Given the description of an element on the screen output the (x, y) to click on. 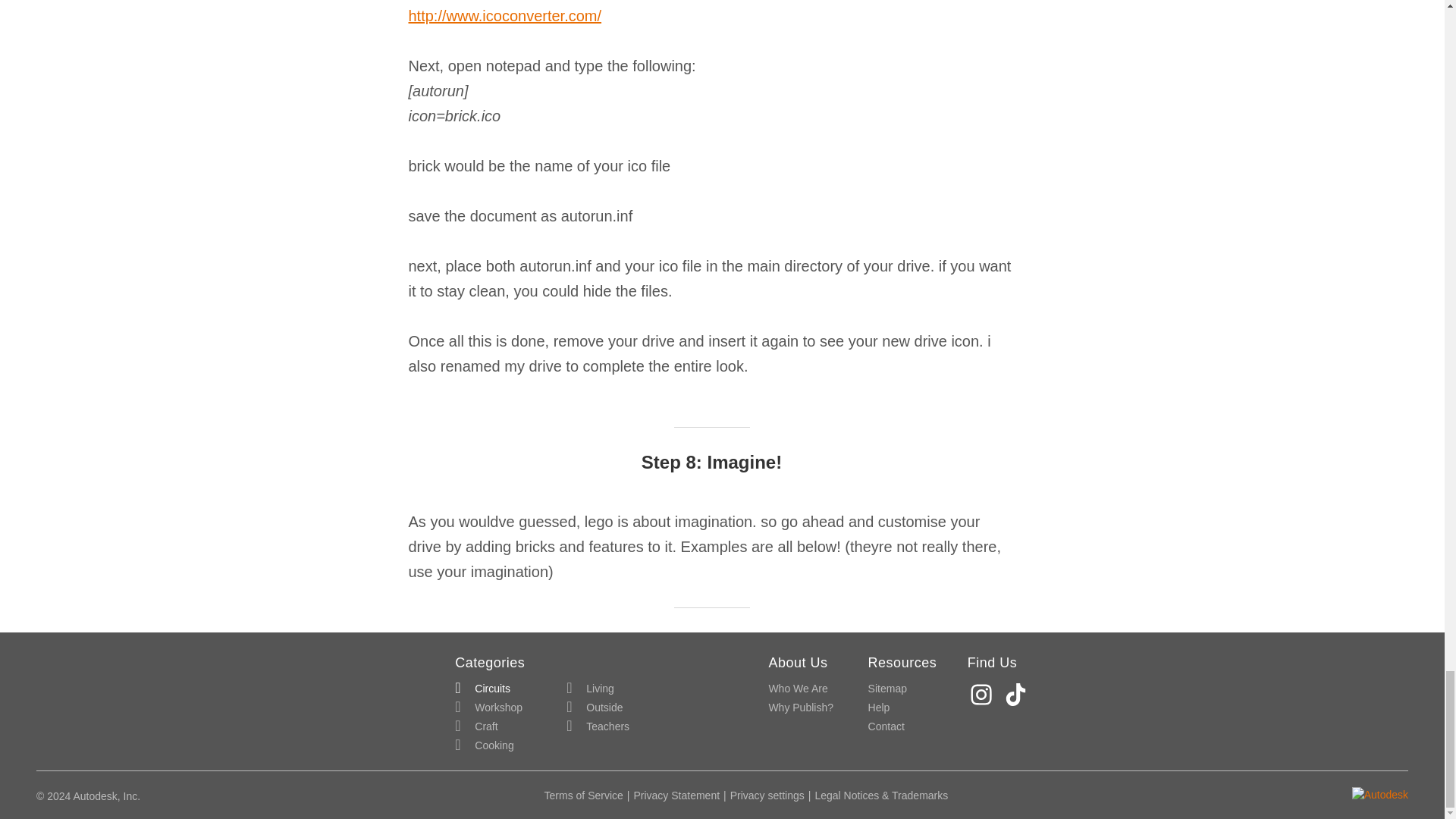
Terms of Service (583, 795)
Workshop (488, 707)
Help (878, 707)
Teachers (597, 726)
Craft (475, 726)
Living (590, 688)
Who We Are (797, 688)
Sitemap (887, 688)
Why Publish? (800, 707)
Instagram (983, 694)
